Given the description of an element on the screen output the (x, y) to click on. 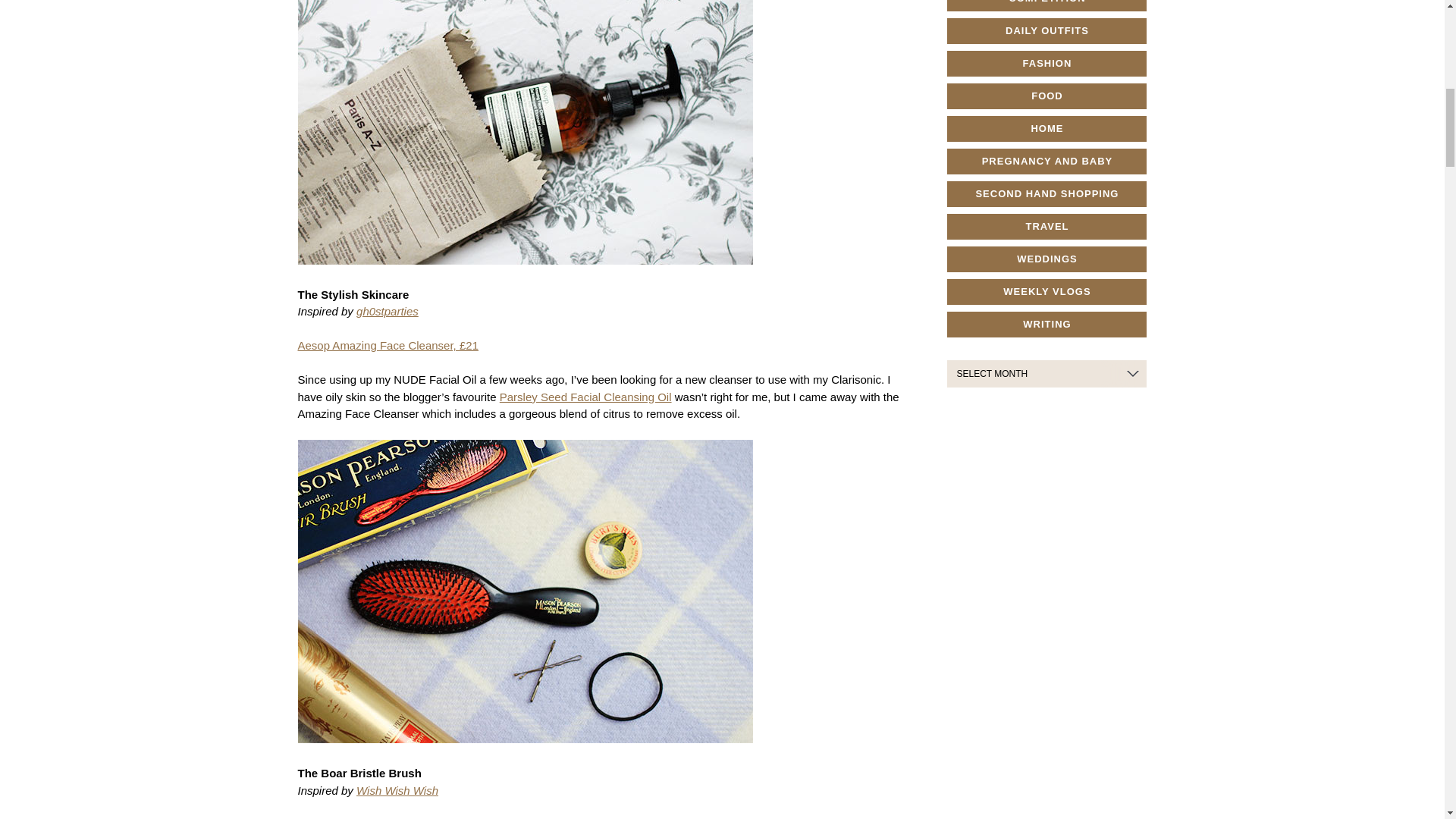
Wish Wish Wish (397, 789)
SELECT MONTH (1047, 373)
boar bristle hairbrush by jenlittlebird, on Flickr (524, 756)
Parsley Seed Facial Cleansing Oil (585, 396)
aesop natural cleanser oily skin by jenlittlebird, on Flickr (524, 277)
gh0stparties (387, 310)
